Given the description of an element on the screen output the (x, y) to click on. 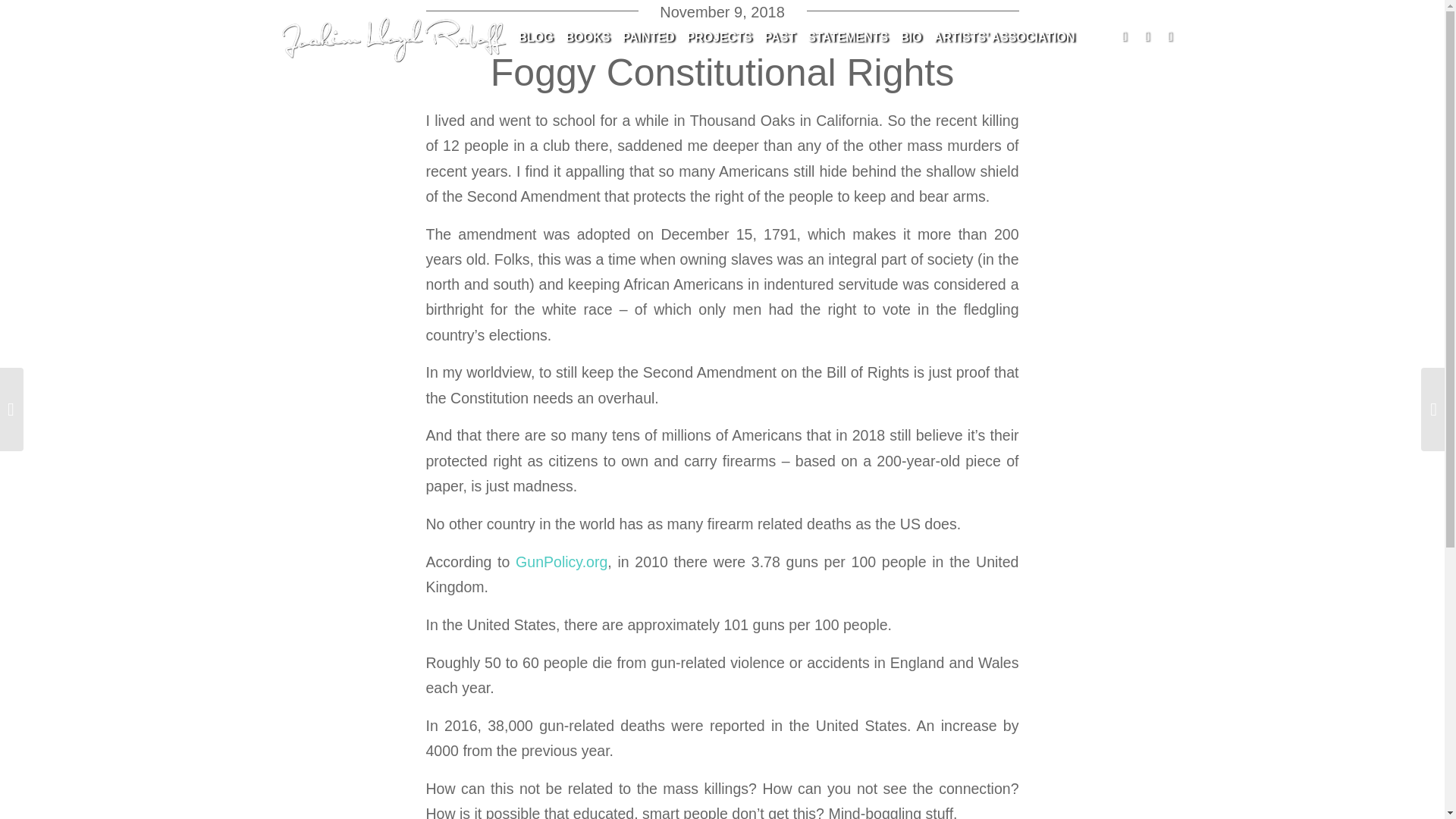
Mail (1124, 36)
STATEMENTS (847, 38)
Facebook (1146, 36)
PROJECTS (718, 38)
Instagram (1169, 36)
GunPolicy.org (561, 561)
